Given the description of an element on the screen output the (x, y) to click on. 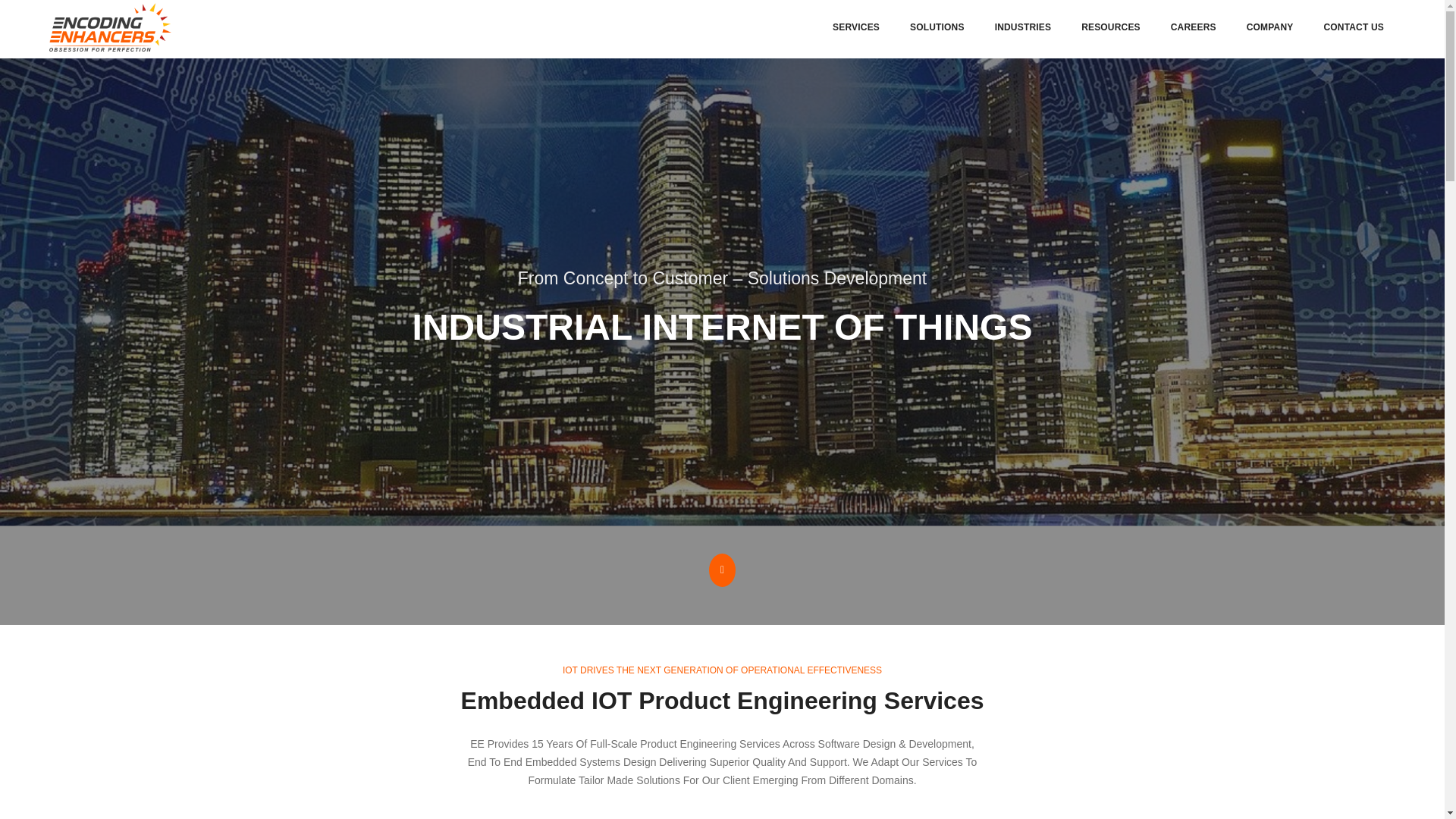
RESOURCES (1110, 27)
EE (110, 27)
SOLUTIONS (936, 27)
CONTACT US (1353, 27)
INDUSTRIES (1022, 27)
